Given the description of an element on the screen output the (x, y) to click on. 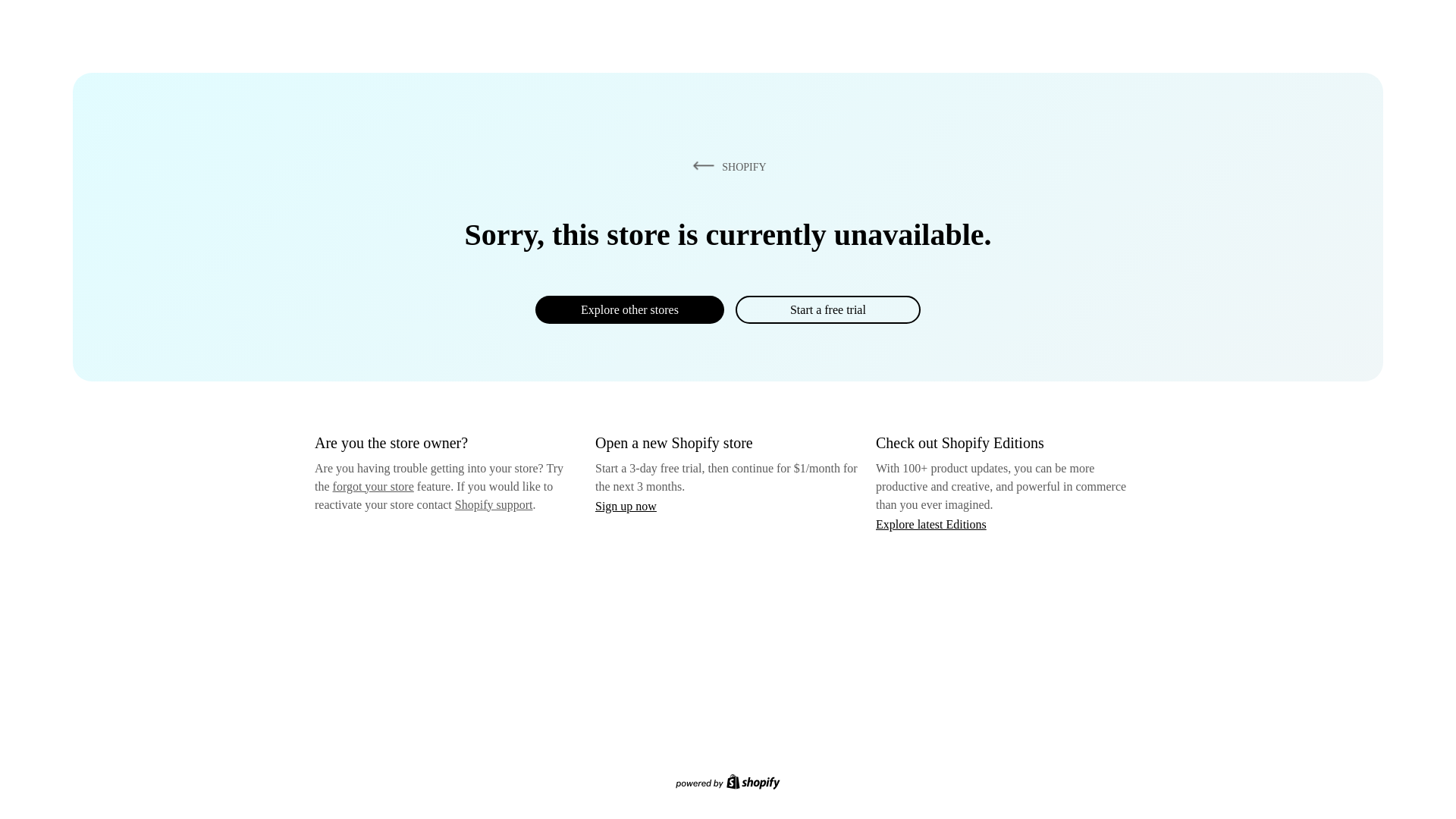
Sign up now (625, 505)
Explore other stores (629, 309)
Explore latest Editions (931, 523)
SHOPIFY (726, 166)
Shopify support (493, 504)
forgot your store (373, 486)
Start a free trial (827, 309)
